Given the description of an element on the screen output the (x, y) to click on. 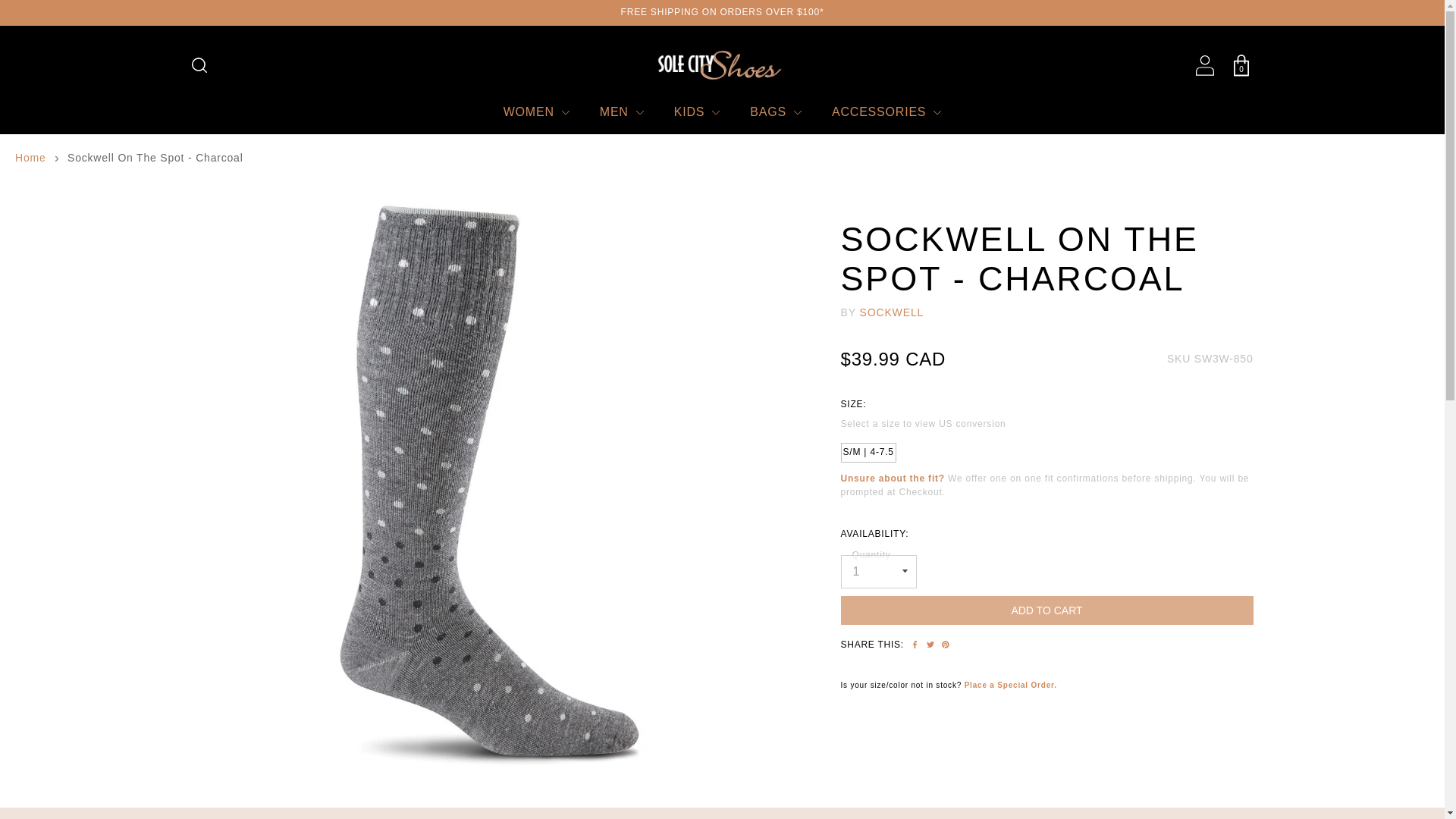
Open Cart (1240, 65)
Account (1203, 65)
Search (198, 64)
Sole City Shoes (722, 65)
Home (30, 157)
